Given the description of an element on the screen output the (x, y) to click on. 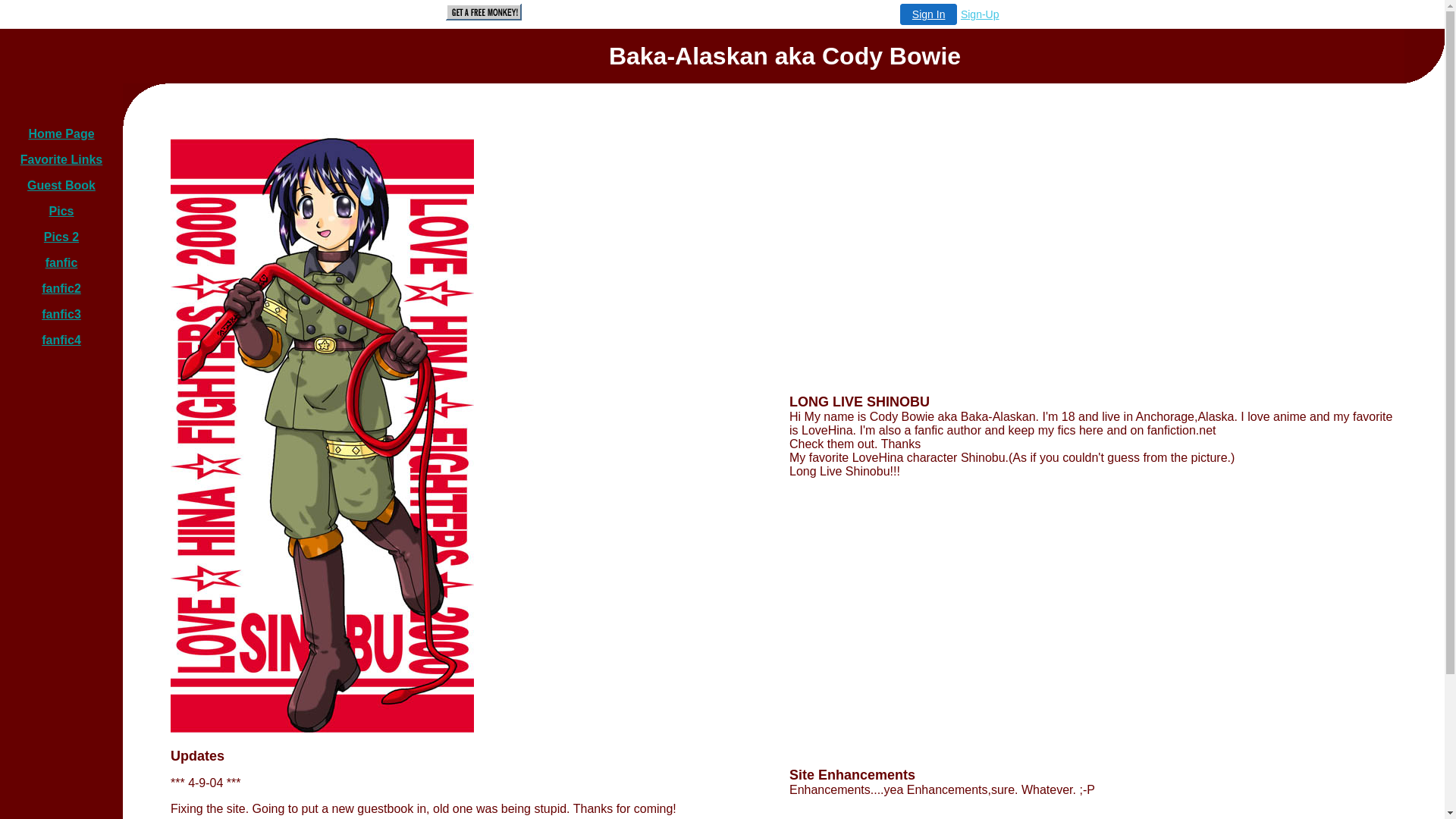
fanfic3 Element type: text (61, 313)
Sign In Element type: text (928, 14)
fanfic4 Element type: text (61, 339)
fanfic Element type: text (61, 262)
Home Page Element type: text (61, 133)
Pics Element type: text (61, 210)
Sign-Up Element type: text (979, 14)
Guest Book Element type: text (61, 184)
Pics 2 Element type: text (60, 236)
fanfic2 Element type: text (61, 288)
Favorite Links Element type: text (61, 159)
